Given the description of an element on the screen output the (x, y) to click on. 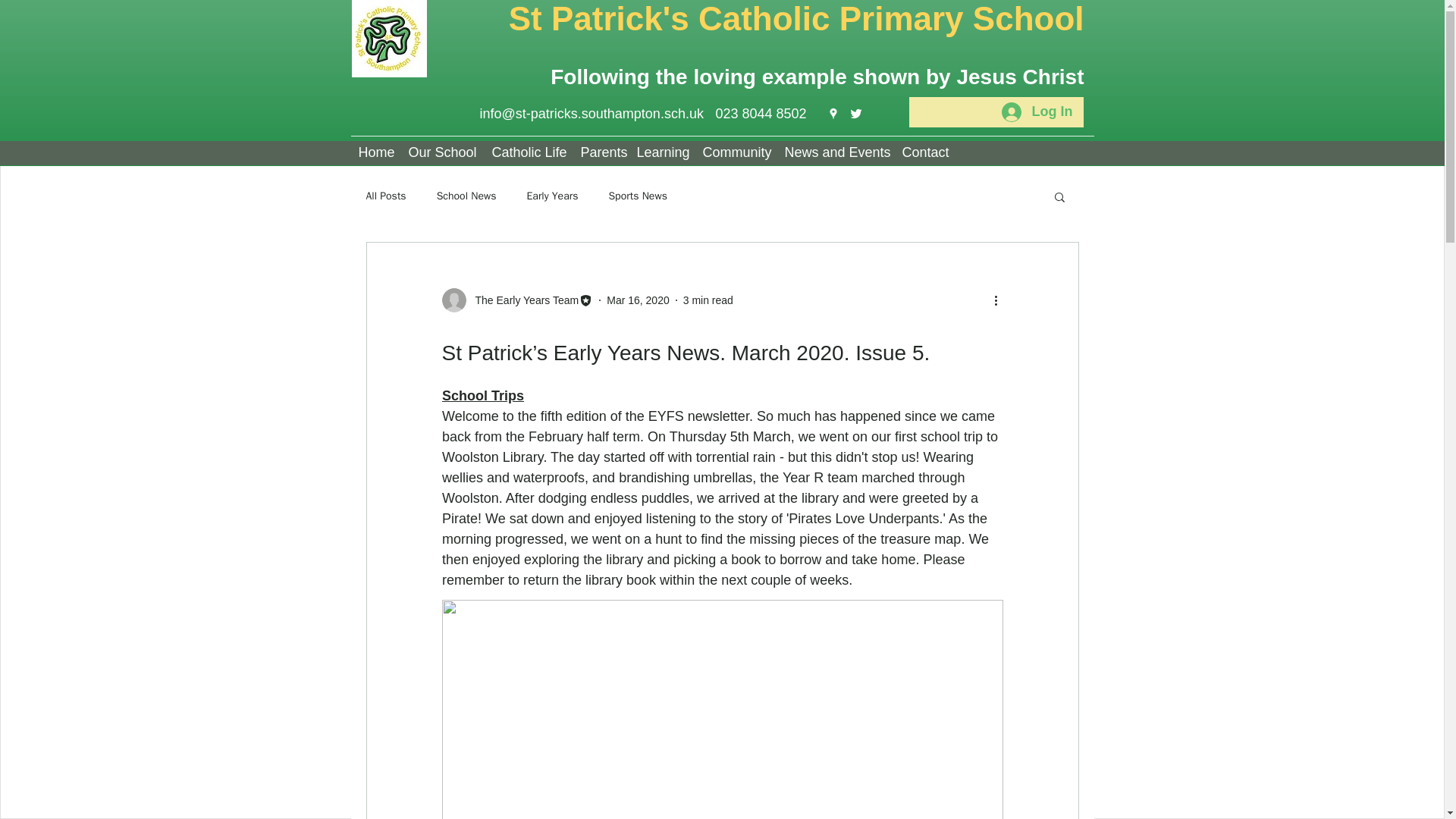
3 min read (707, 300)
Home (375, 151)
School Logo (389, 38)
Mar 16, 2020 (638, 300)
Log In (1037, 111)
The Early Years Team (521, 300)
Our School (441, 151)
